Given the description of an element on the screen output the (x, y) to click on. 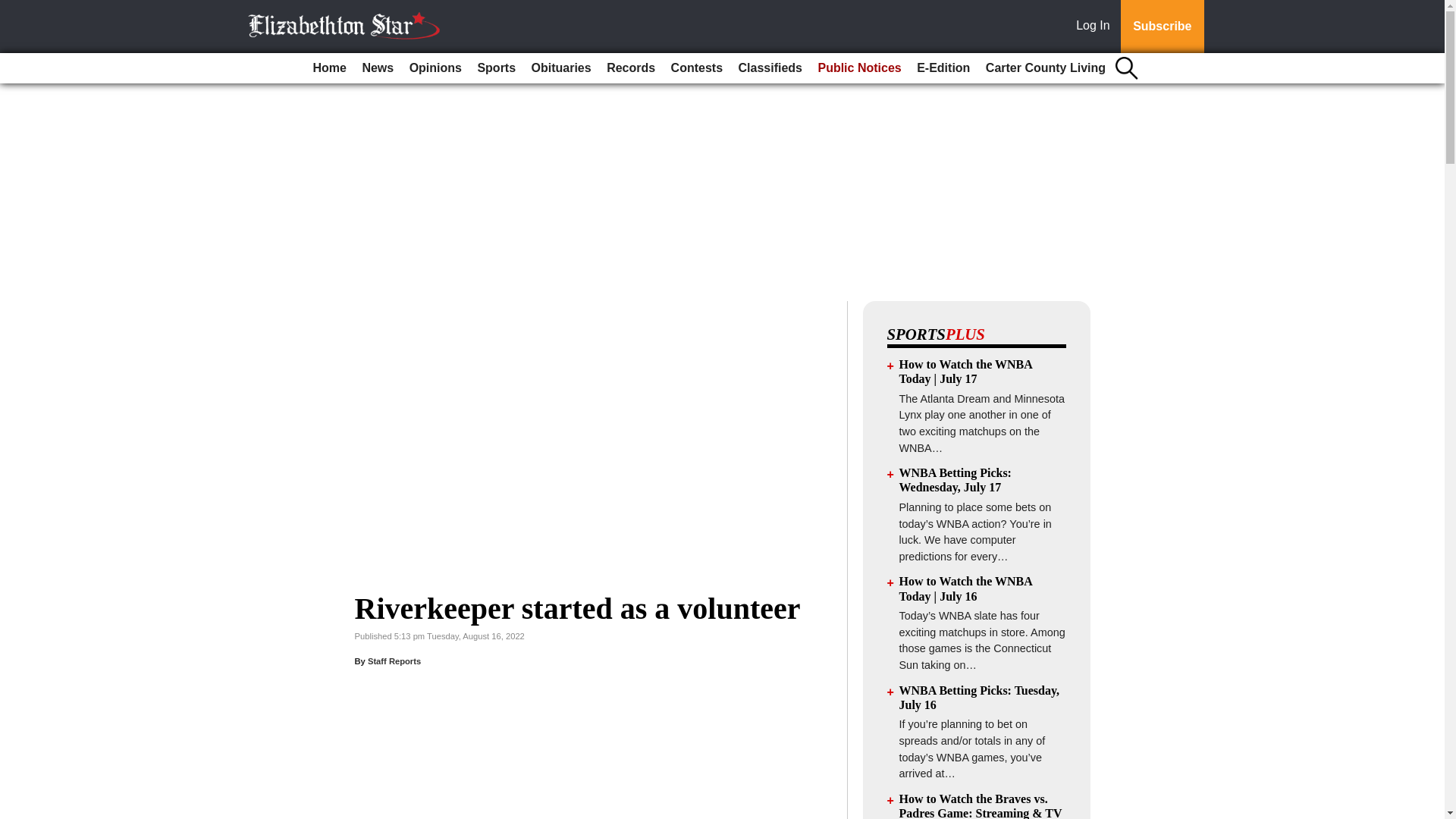
E-Edition (943, 68)
News (376, 68)
Carter County Living (1045, 68)
Sports (495, 68)
Staff Reports (394, 660)
Log In (1095, 26)
Contests (697, 68)
Go (13, 9)
Public Notices (858, 68)
Classifieds (770, 68)
Home (328, 68)
Opinions (435, 68)
WNBA Betting Picks: Tuesday, July 16 (979, 697)
Records (630, 68)
WNBA Betting Picks: Wednesday, July 17 (955, 479)
